Given the description of an element on the screen output the (x, y) to click on. 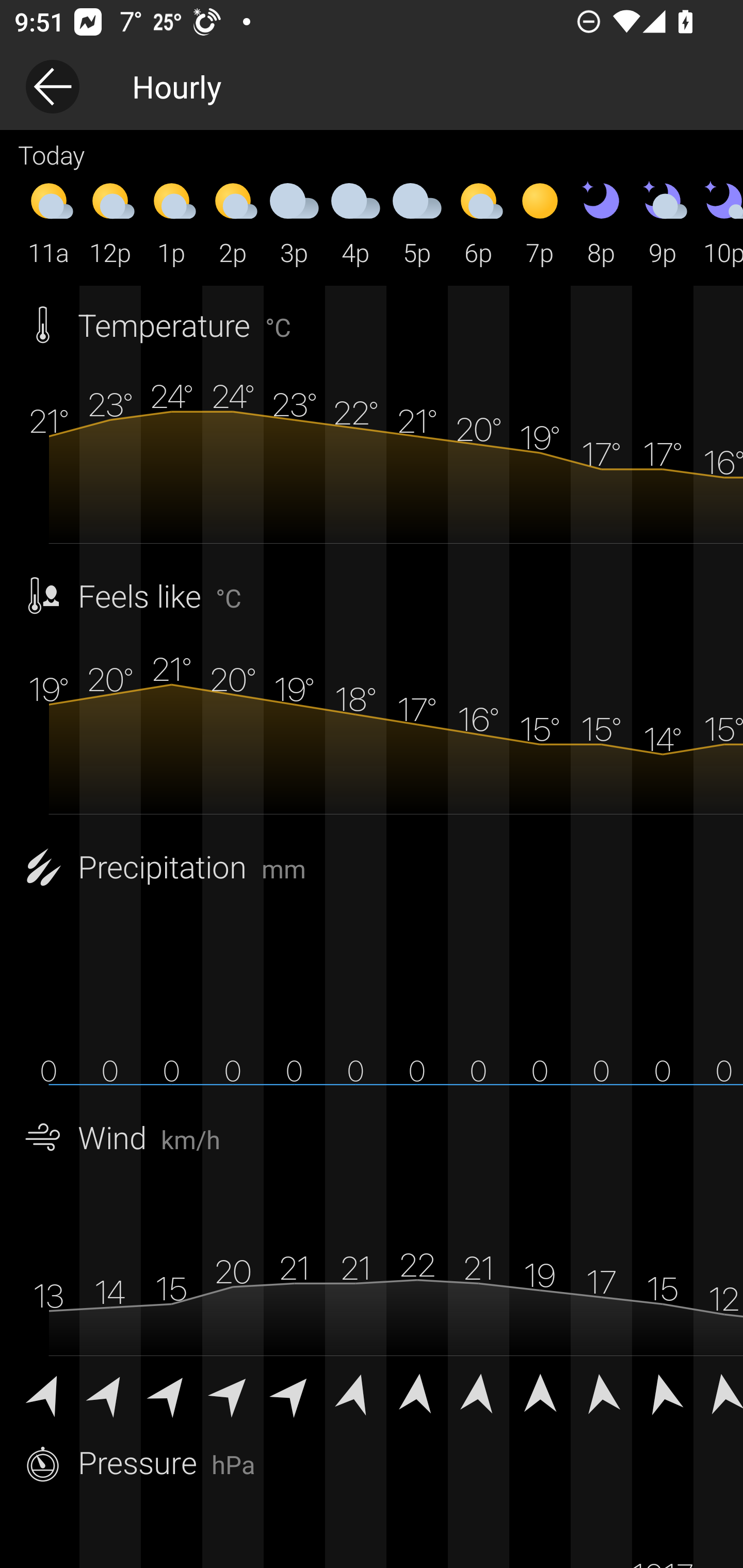
11a (48, 222)
12p (110, 222)
1p (171, 222)
2p (232, 222)
3p (294, 222)
4p (355, 222)
5p (417, 222)
6p (478, 222)
7p (539, 222)
8p (601, 222)
9p (662, 222)
10p (718, 222)
 (48, 1391)
 (110, 1391)
 (171, 1391)
 (232, 1391)
 (294, 1391)
 (355, 1391)
 (417, 1391)
 (478, 1391)
 (539, 1391)
 (601, 1391)
 (662, 1391)
 (718, 1391)
